Given the description of an element on the screen output the (x, y) to click on. 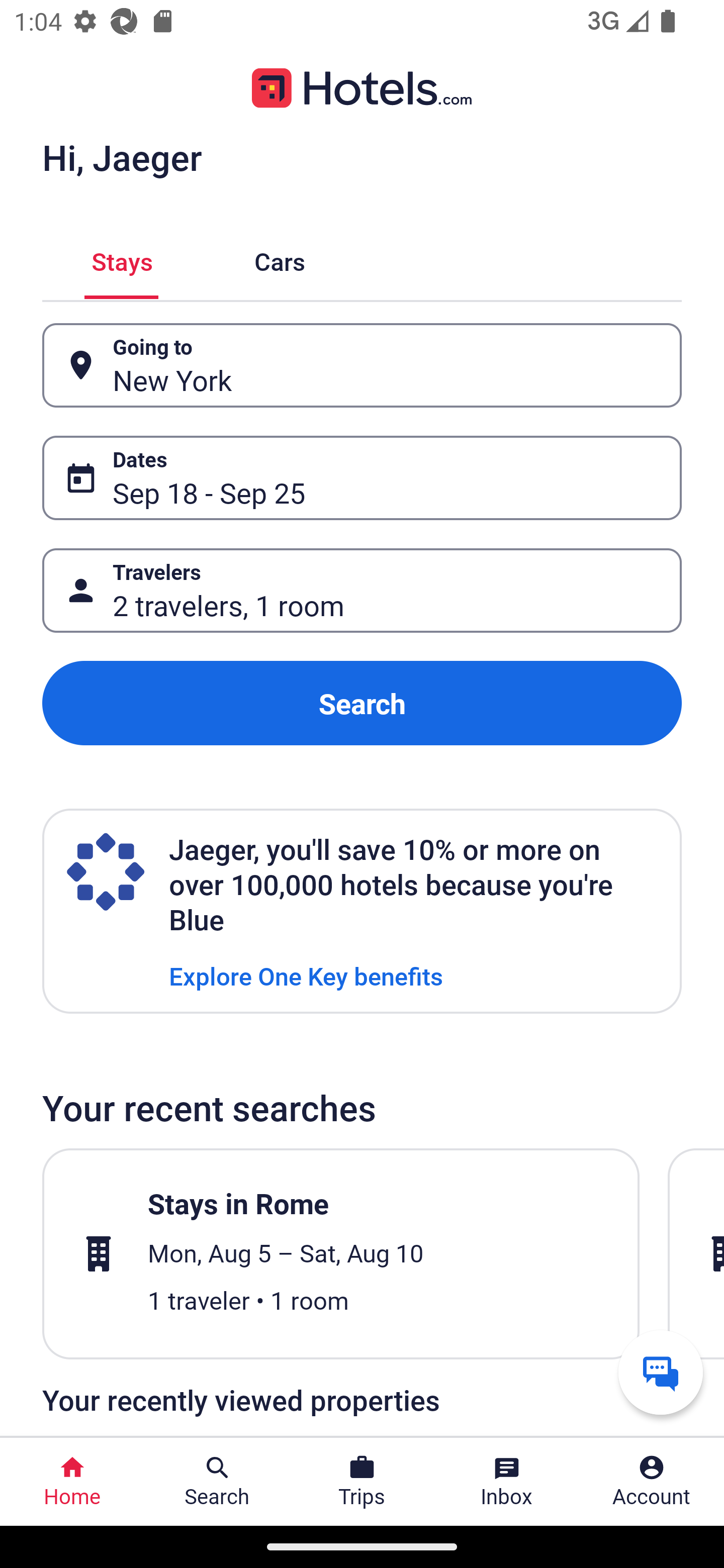
Hi, Jaeger (121, 156)
Cars (279, 259)
Going to Button New York (361, 365)
Dates Button Sep 18 - Sep 25 (361, 477)
Travelers Button 2 travelers, 1 room (361, 590)
Search (361, 702)
Get help from a virtual agent (660, 1371)
Search Search Button (216, 1481)
Trips Trips Button (361, 1481)
Inbox Inbox Button (506, 1481)
Account Profile. Button (651, 1481)
